Given the description of an element on the screen output the (x, y) to click on. 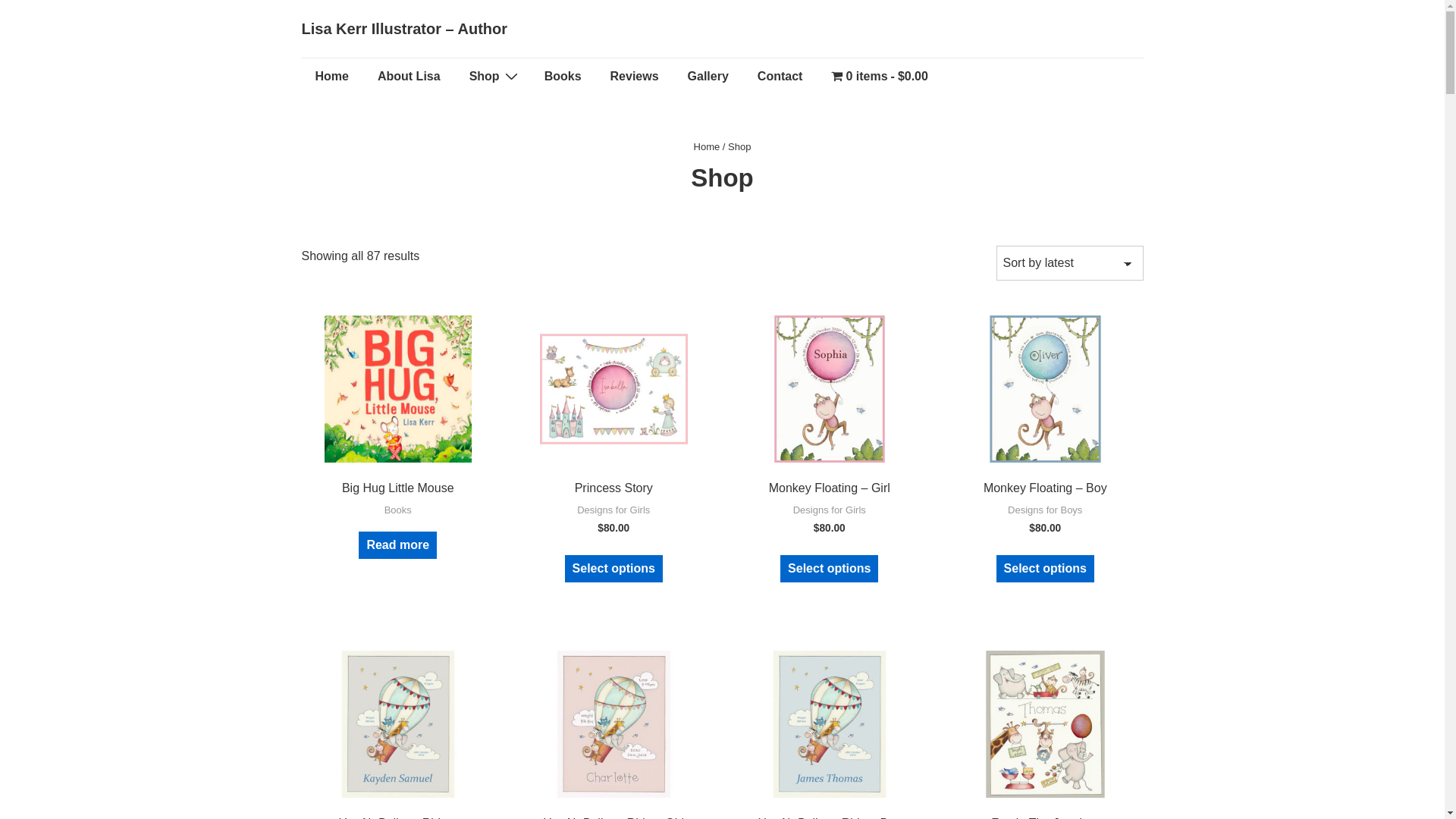
Gallery Element type: text (708, 76)
About Lisa Element type: text (409, 76)
Shop Element type: text (492, 76)
Home Element type: text (706, 146)
Big Hug Little Mouse Element type: text (398, 488)
Select options Element type: text (613, 568)
Books Element type: text (562, 76)
Select options Element type: text (1045, 568)
Reviews Element type: text (634, 76)
Contact Element type: text (779, 76)
0 items$0.00 Element type: text (879, 76)
Home Element type: text (331, 76)
Select options Element type: text (829, 568)
Princess Story Element type: text (613, 488)
Read more Element type: text (397, 544)
